Given the description of an element on the screen output the (x, y) to click on. 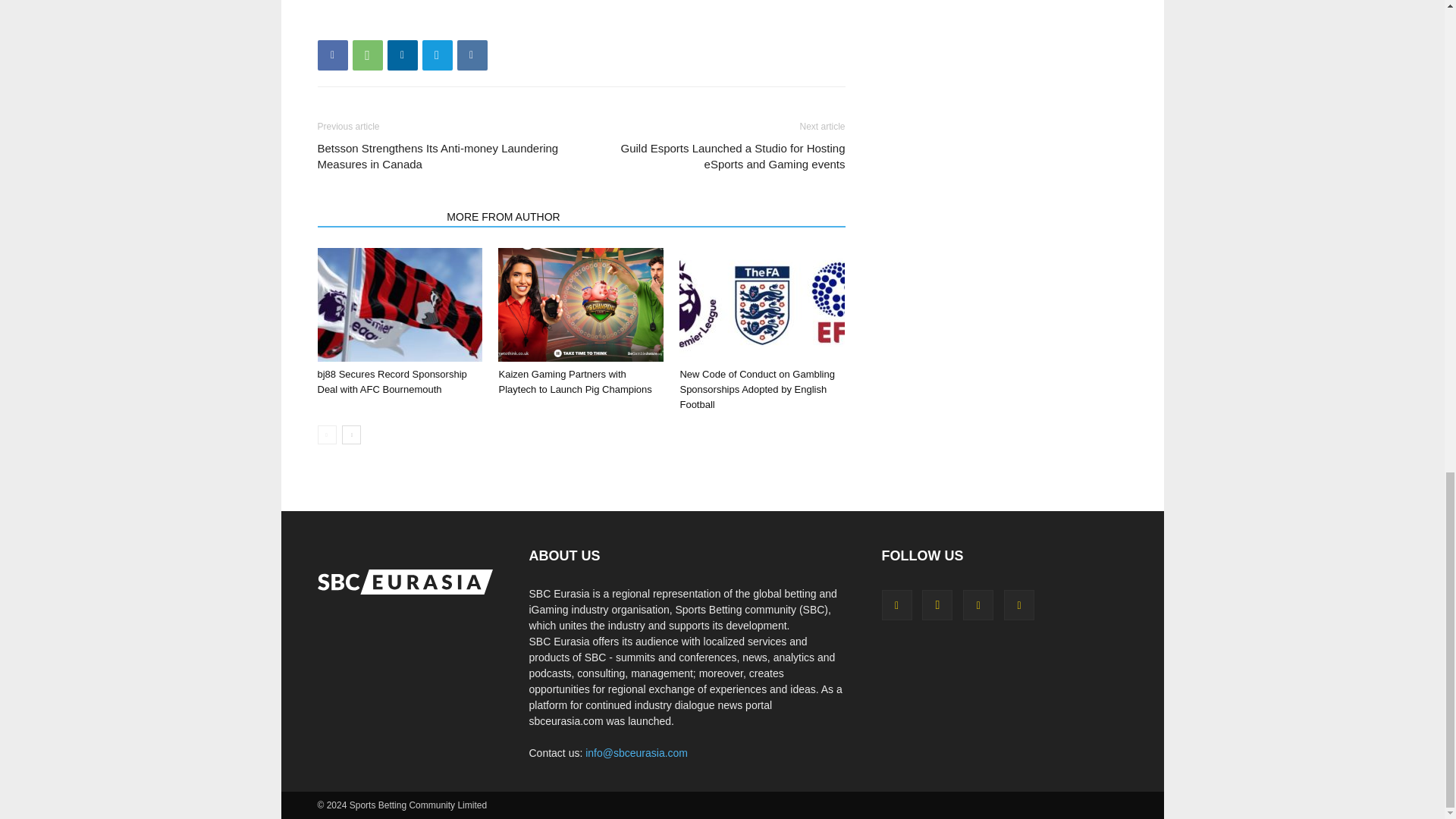
bottomFacebookLike (430, 21)
